Given the description of an element on the screen output the (x, y) to click on. 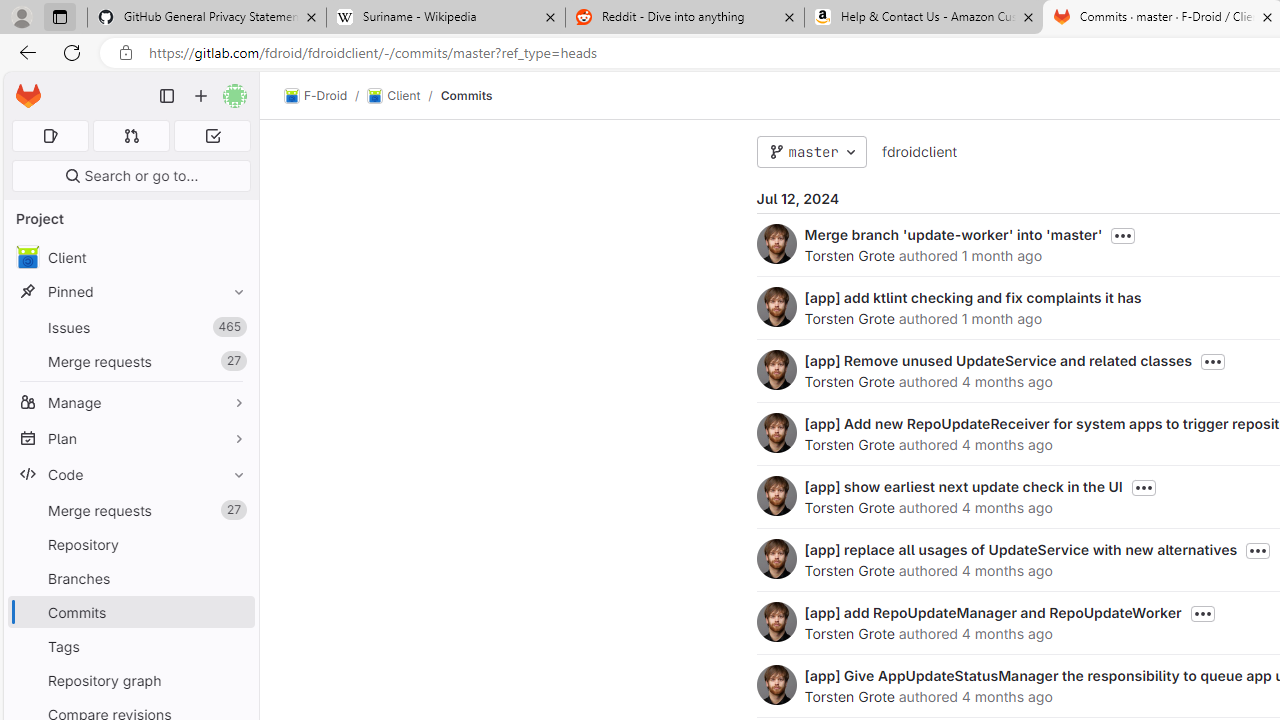
fdroidclient (918, 151)
Merge branch 'update-worker' into 'master' (953, 234)
Manage (130, 402)
To-Do list 0 (212, 136)
Client/ (404, 96)
Code (130, 474)
fdroidclient (918, 151)
Tags (130, 646)
avatar Client (130, 257)
Pin Repository (234, 544)
Torsten Grote (848, 696)
Plan (130, 438)
Skip to main content (23, 87)
Create new... (201, 96)
